Given the description of an element on the screen output the (x, y) to click on. 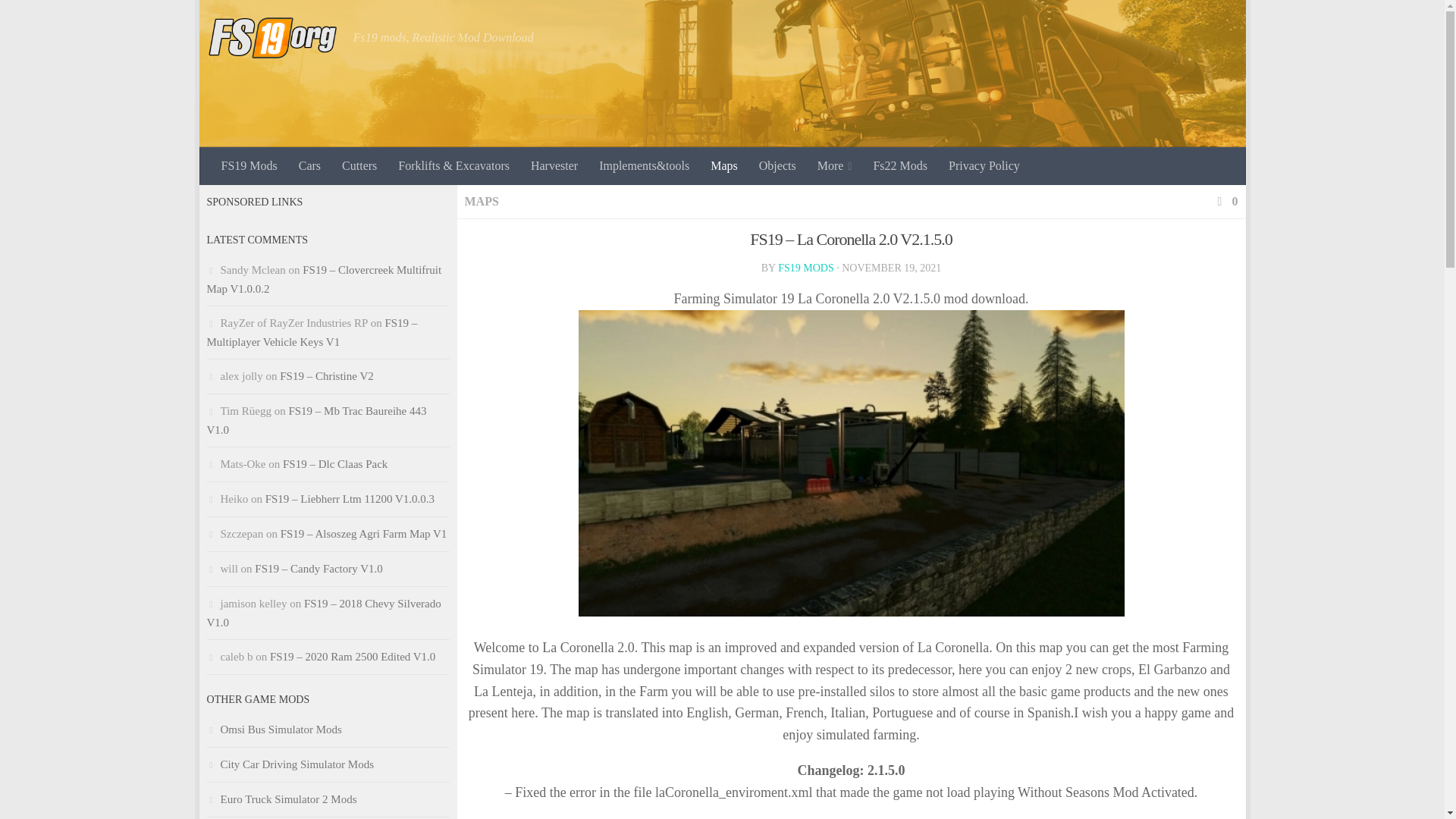
Harvester (553, 166)
Maps (724, 166)
Skip to content (258, 20)
FS19 Mods (249, 166)
Posts by Fs19 mods (805, 267)
More (834, 166)
Cutters (359, 166)
Cars (309, 166)
Objects (777, 166)
